Given the description of an element on the screen output the (x, y) to click on. 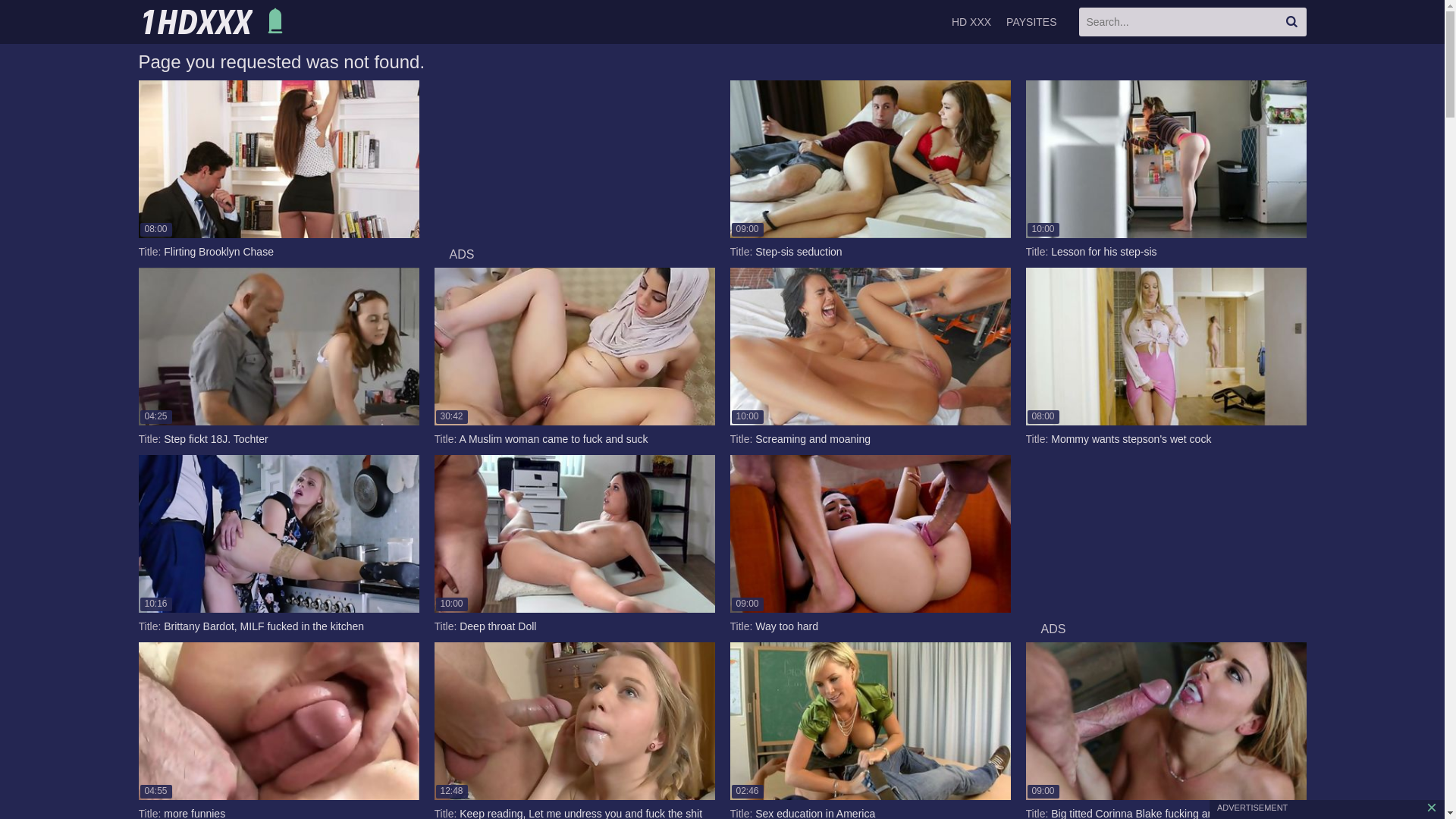
HD XXX Element type: hover (213, 21)
PAYSITES Element type: text (1031, 21)
HD XXX Element type: text (971, 21)
